Given the description of an element on the screen output the (x, y) to click on. 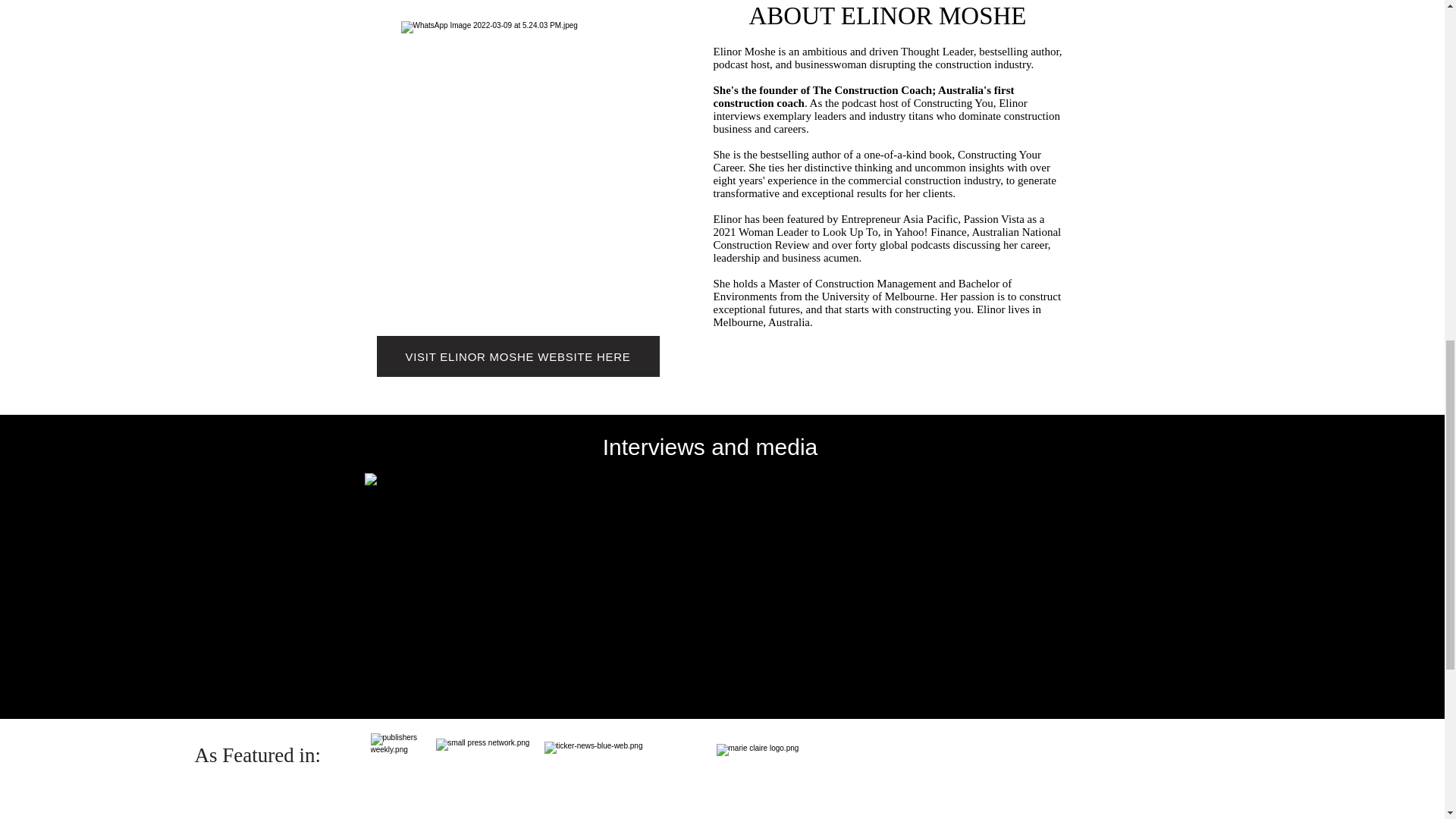
VISIT ELINOR MOSHE WEBSITE HERE (517, 355)
